Given the description of an element on the screen output the (x, y) to click on. 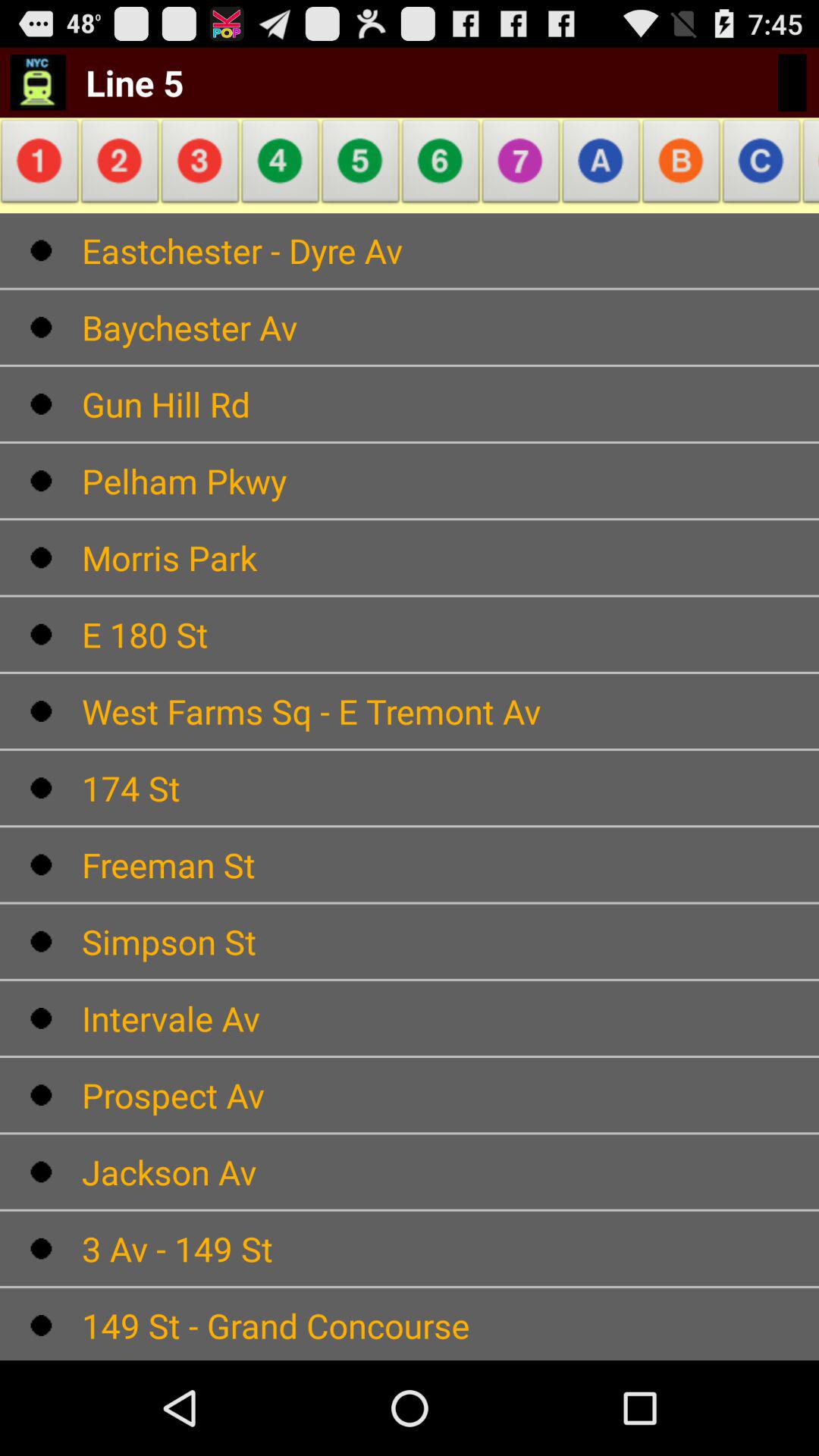
turn off e 180 st app (450, 634)
